Given the description of an element on the screen output the (x, y) to click on. 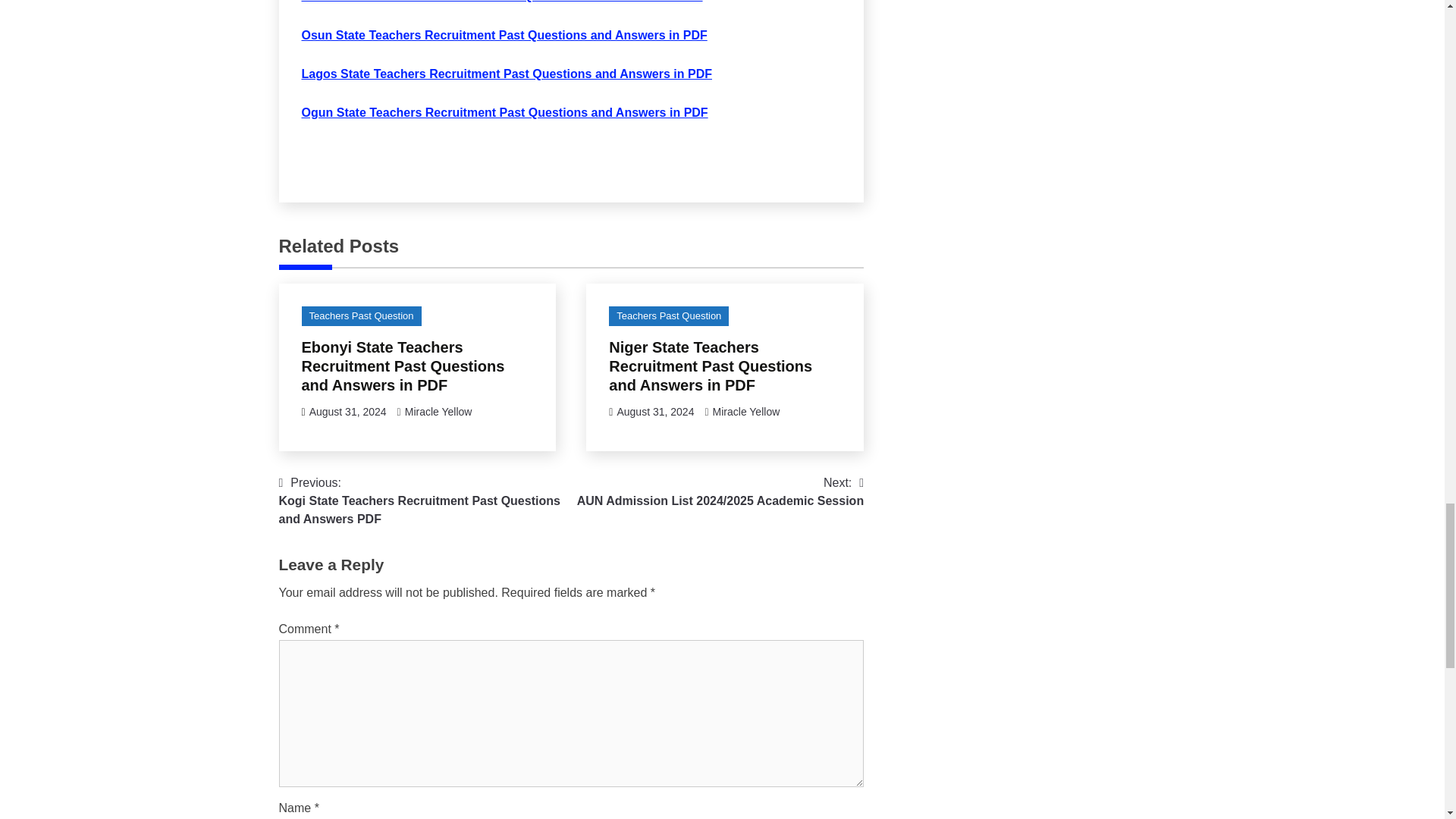
August 31, 2024 (654, 411)
Miracle Yellow (437, 411)
August 31, 2024 (347, 411)
Miracle Yellow (746, 411)
Teachers Past Question (361, 315)
